Given the description of an element on the screen output the (x, y) to click on. 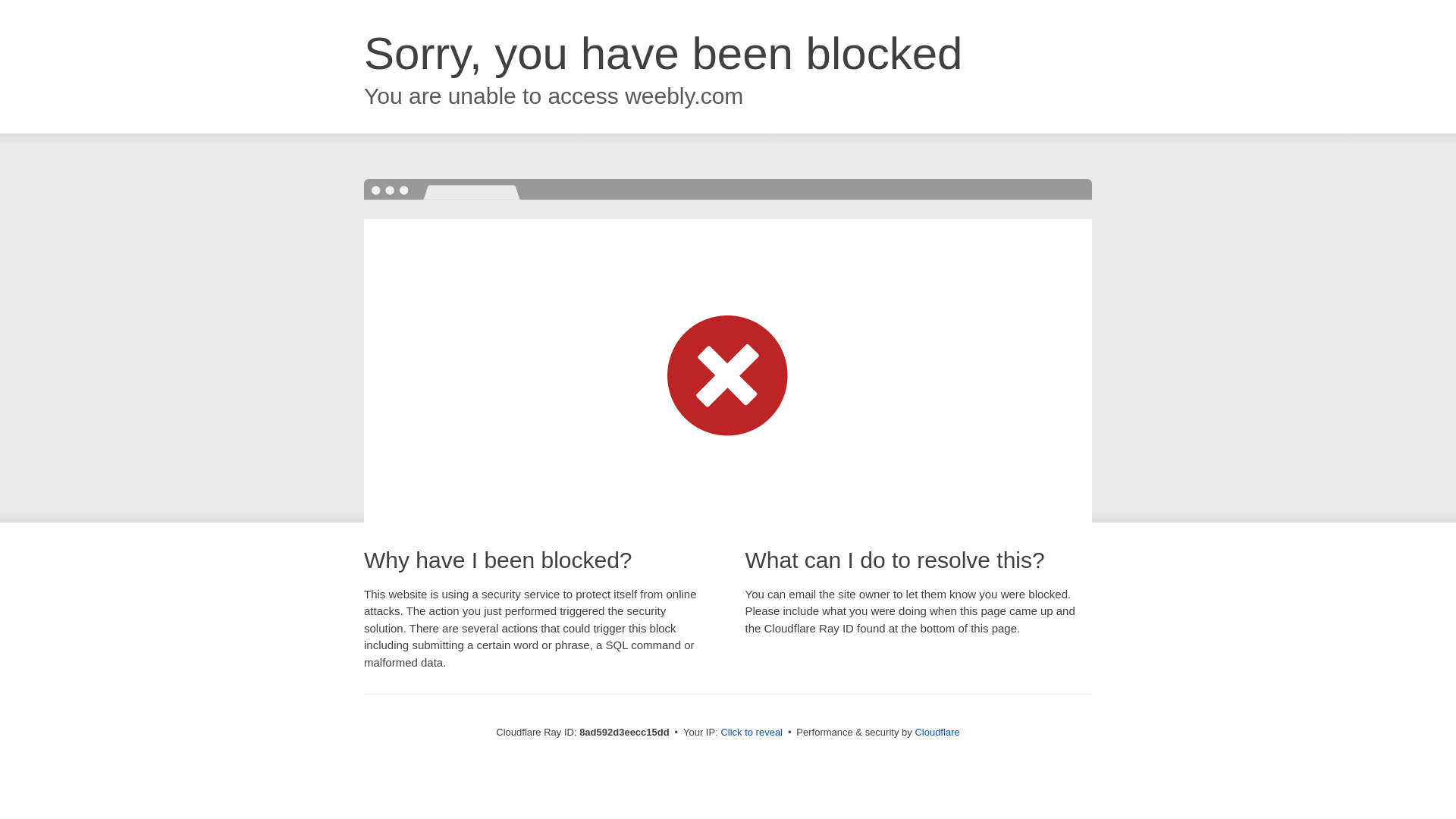
Cloudflare (936, 731)
Click to reveal (751, 732)
